Given the description of an element on the screen output the (x, y) to click on. 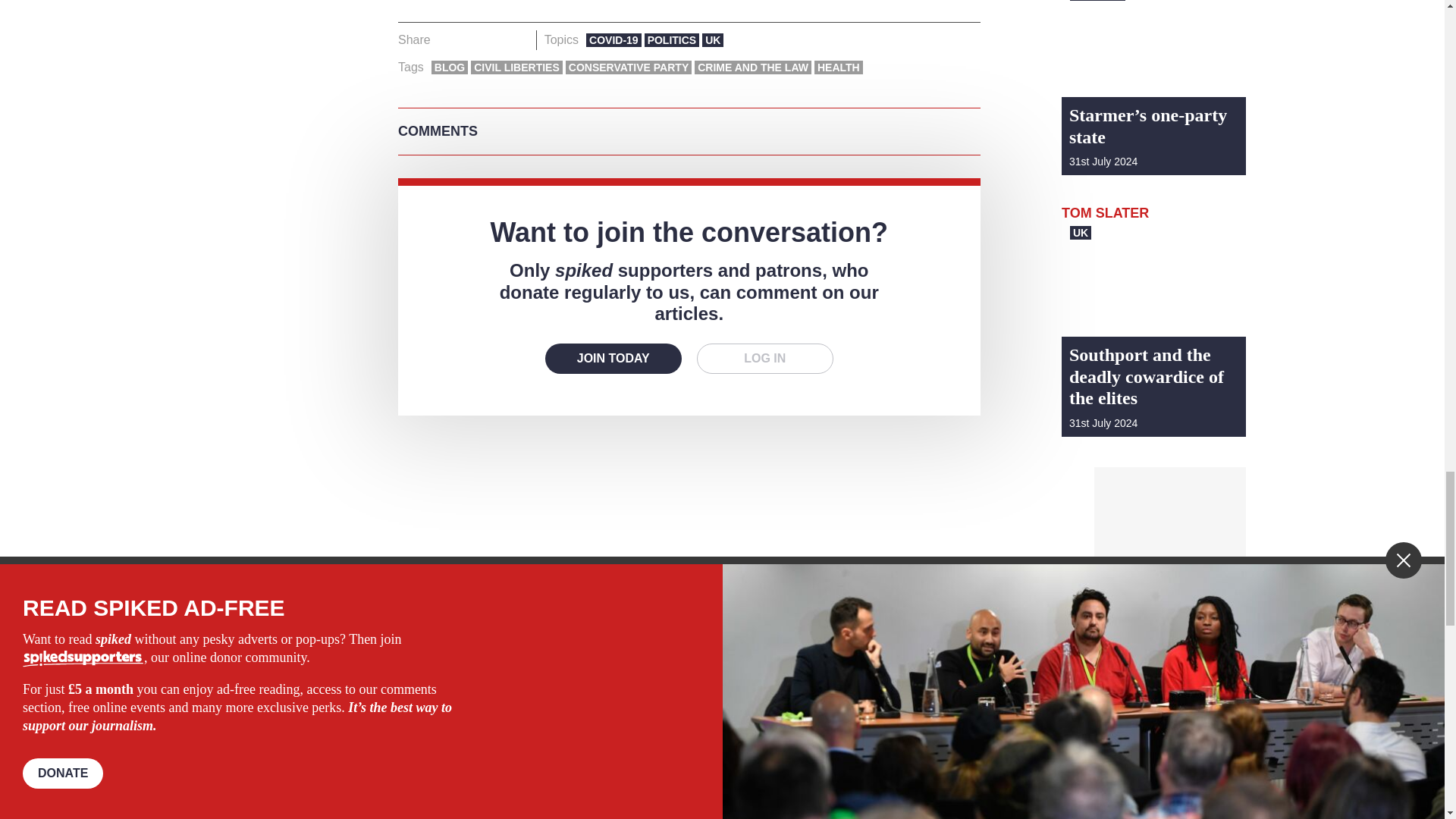
Share on Twitter (471, 39)
Share on Whatsapp (494, 39)
Share on Email (518, 39)
Share on Facebook (448, 39)
